Given the description of an element on the screen output the (x, y) to click on. 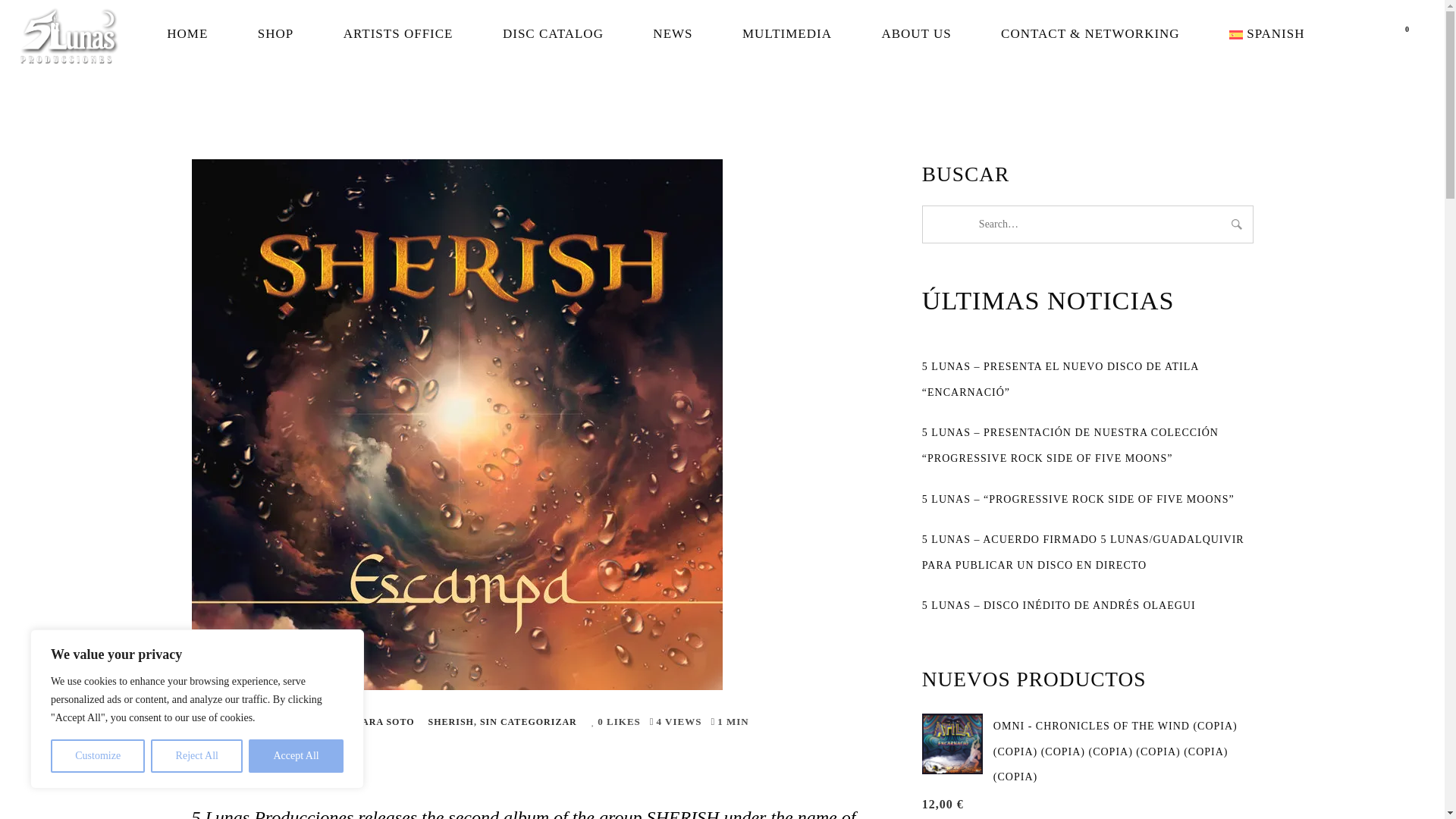
ARTISTS OFFICE (398, 33)
Customize (97, 756)
SHOP (275, 33)
Accept All (295, 756)
HOME (186, 33)
DISC CATALOG (552, 33)
View all posts by Juan Antonio (331, 721)
Spanish (1266, 33)
Reject All (197, 756)
